Given the description of an element on the screen output the (x, y) to click on. 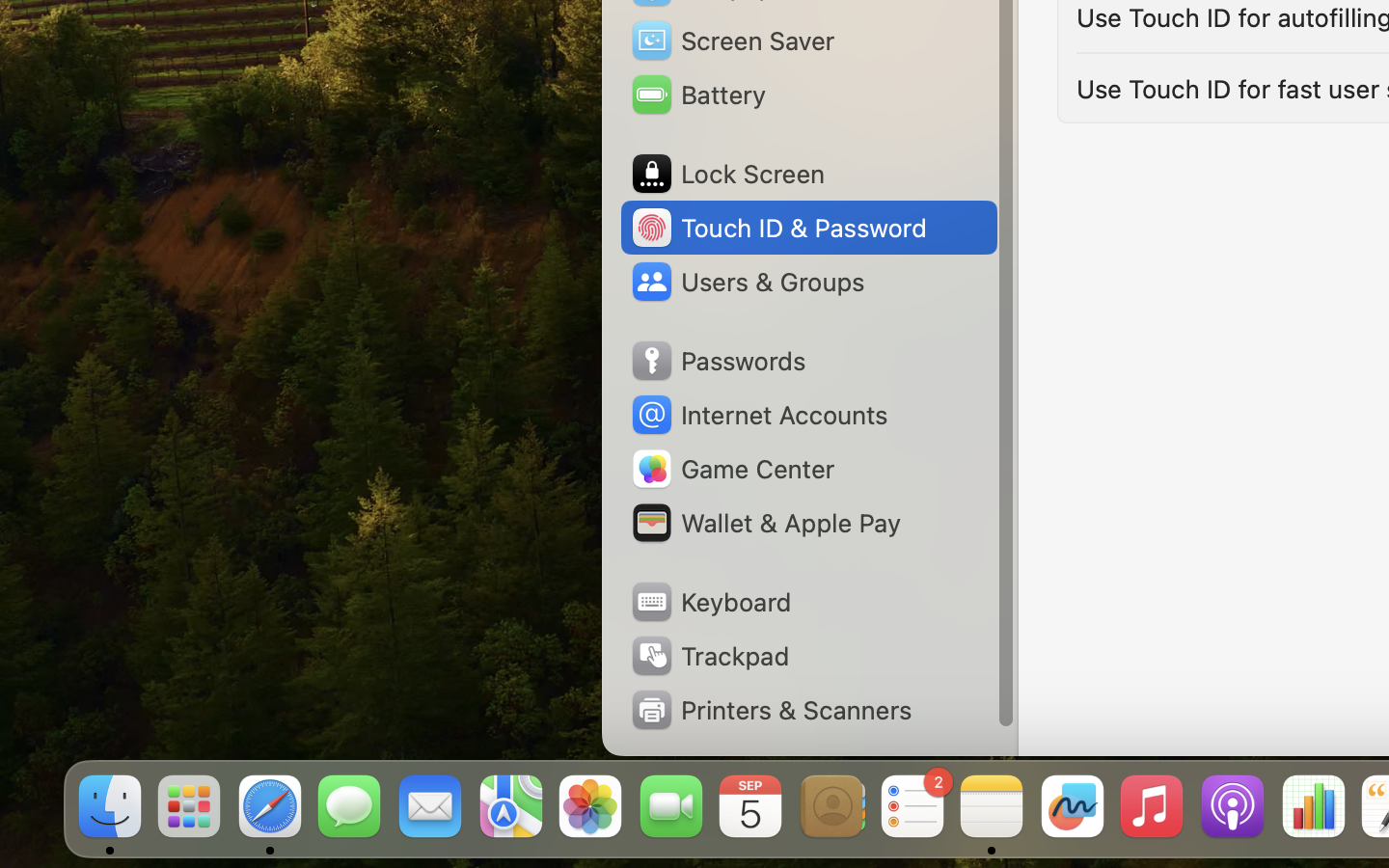
Screen Saver Element type: AXStaticText (731, 40)
Lock Screen Element type: AXStaticText (726, 173)
Keyboard Element type: AXStaticText (709, 601)
Wallet & Apple Pay Element type: AXStaticText (764, 522)
Touch ID & Password Element type: AXStaticText (777, 227)
